Given the description of an element on the screen output the (x, y) to click on. 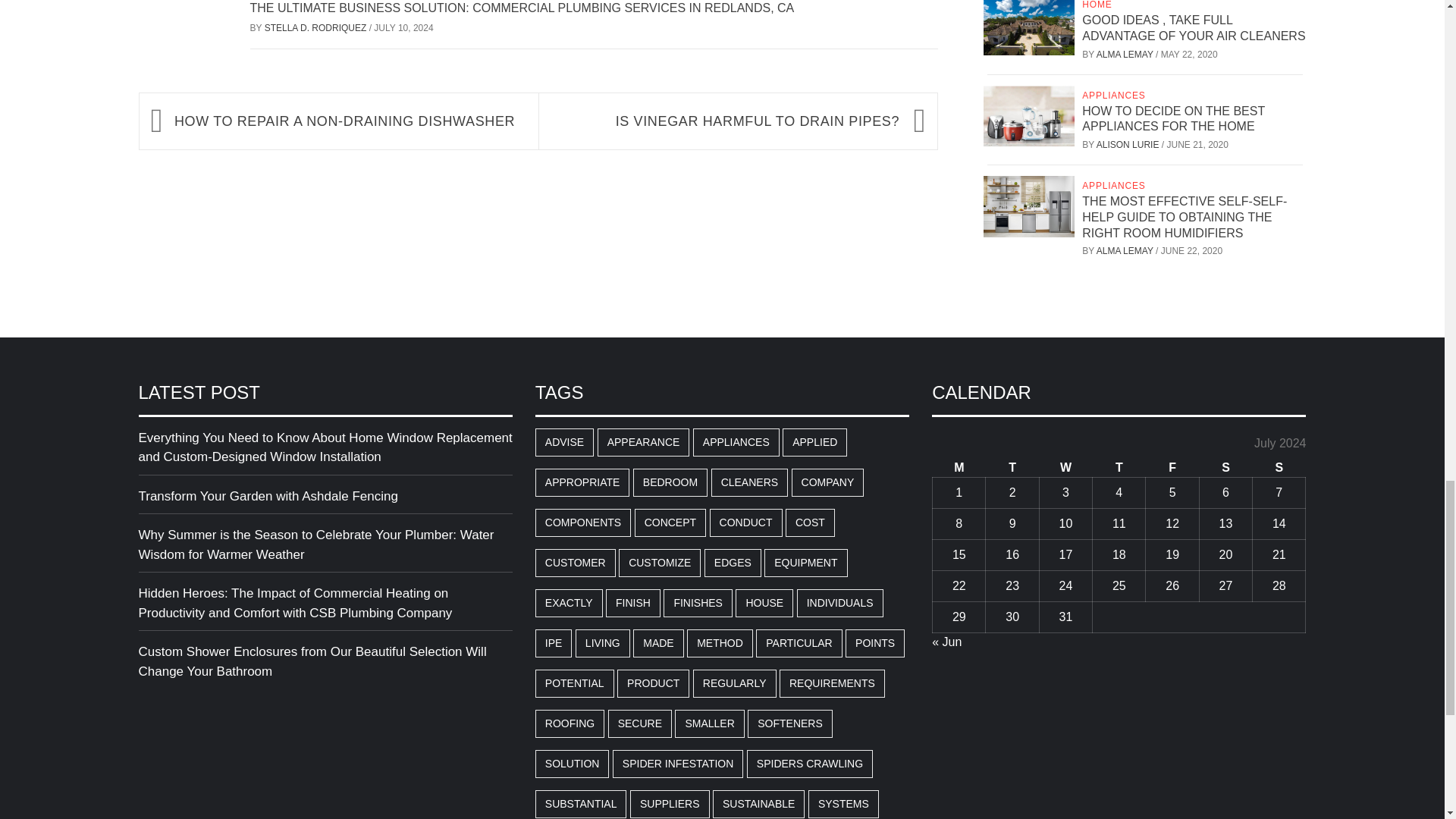
Friday (1171, 467)
Wednesday (1065, 467)
Monday (959, 467)
Tuesday (1012, 467)
Thursday (1119, 467)
Sunday (1279, 467)
Saturday (1225, 467)
